Given the description of an element on the screen output the (x, y) to click on. 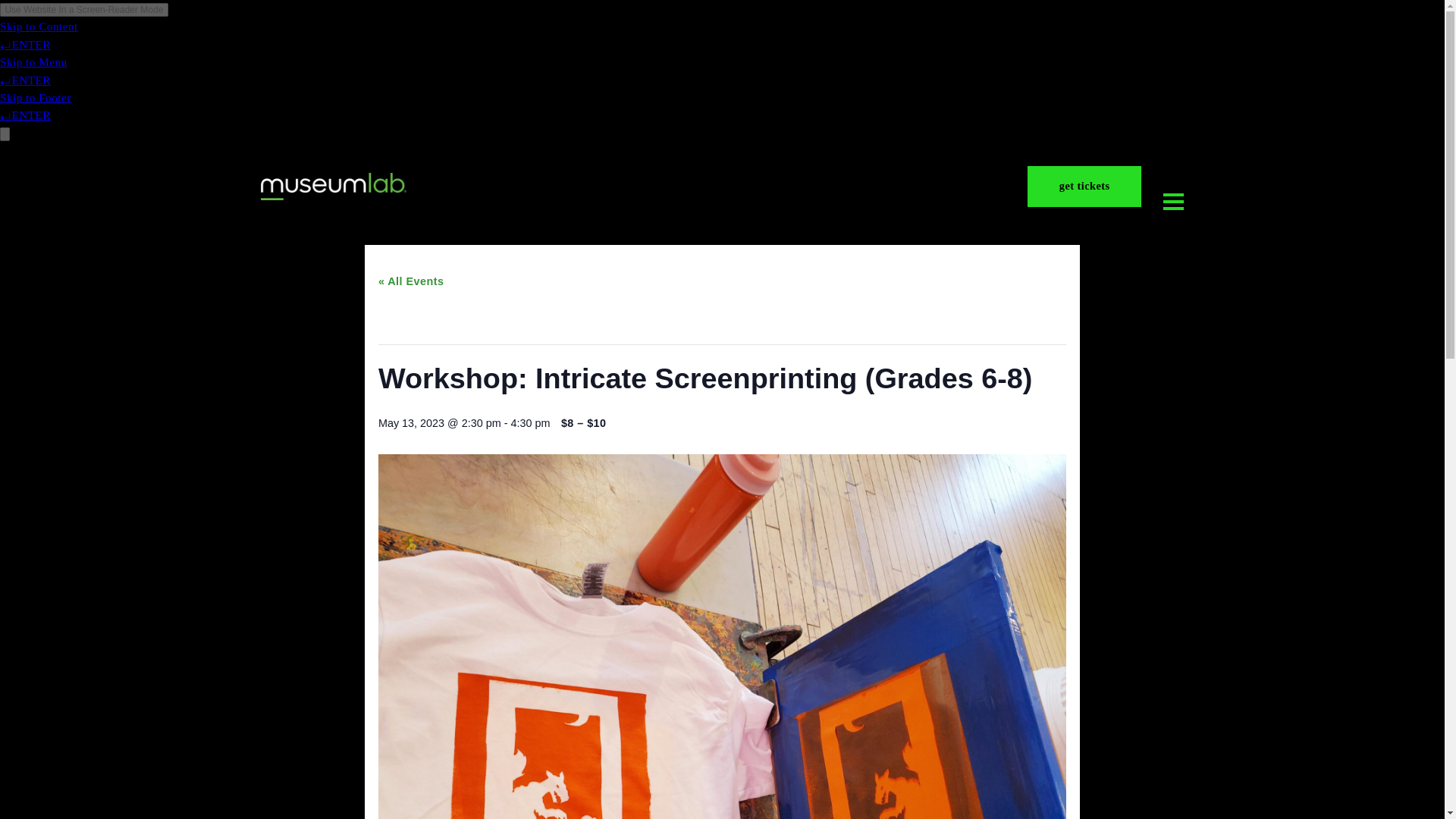
get tickets (1204, 207)
